Given the description of an element on the screen output the (x, y) to click on. 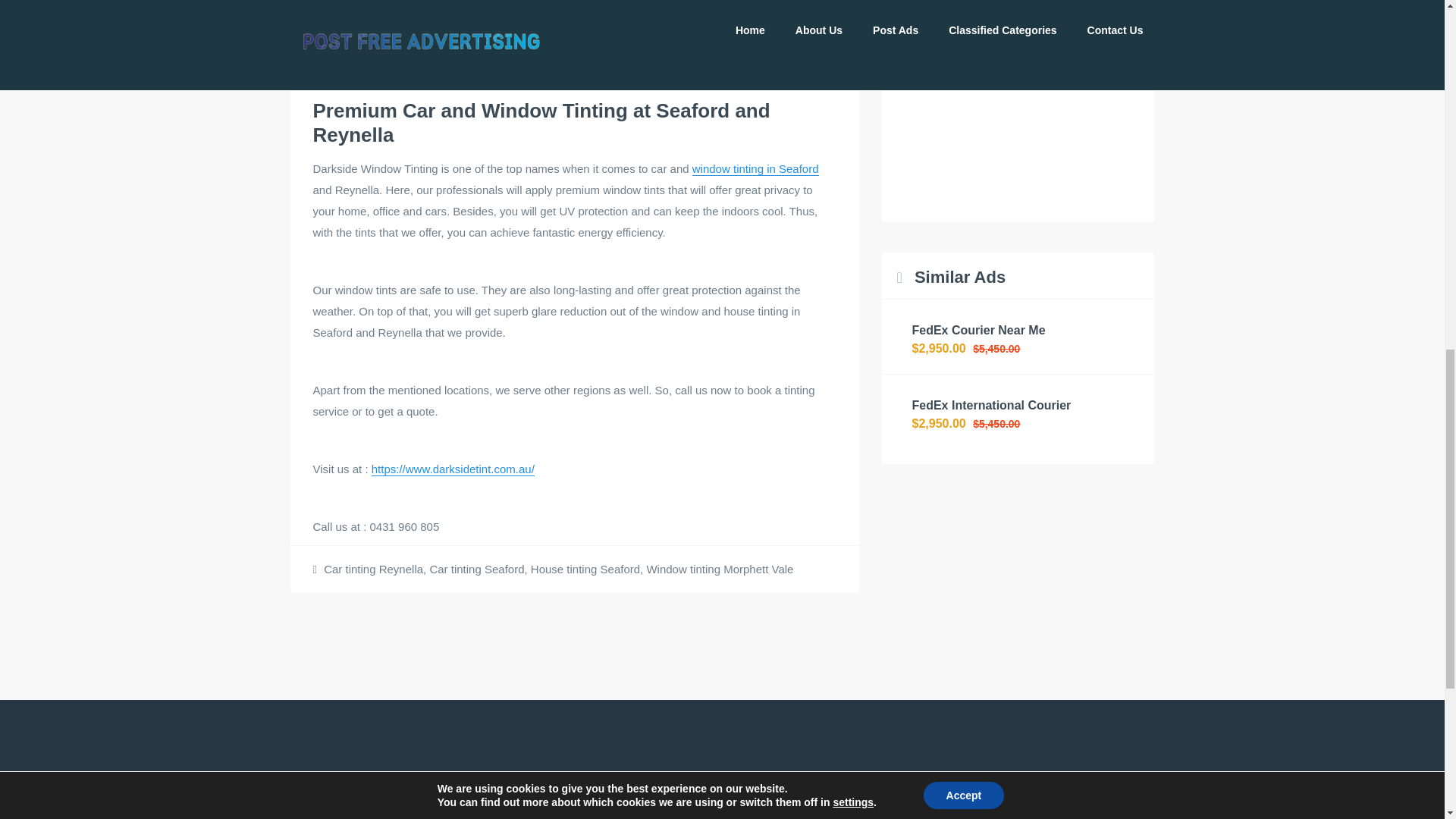
Home (304, 813)
FedEx International Courier (990, 404)
Car tinting Reynella (373, 568)
window tinting in Seaford (755, 169)
Window tinting Morphett Vale (719, 568)
FedEx Courier Near Me (978, 329)
Car tinting Seaford (476, 568)
House tinting Seaford (585, 568)
